Given the description of an element on the screen output the (x, y) to click on. 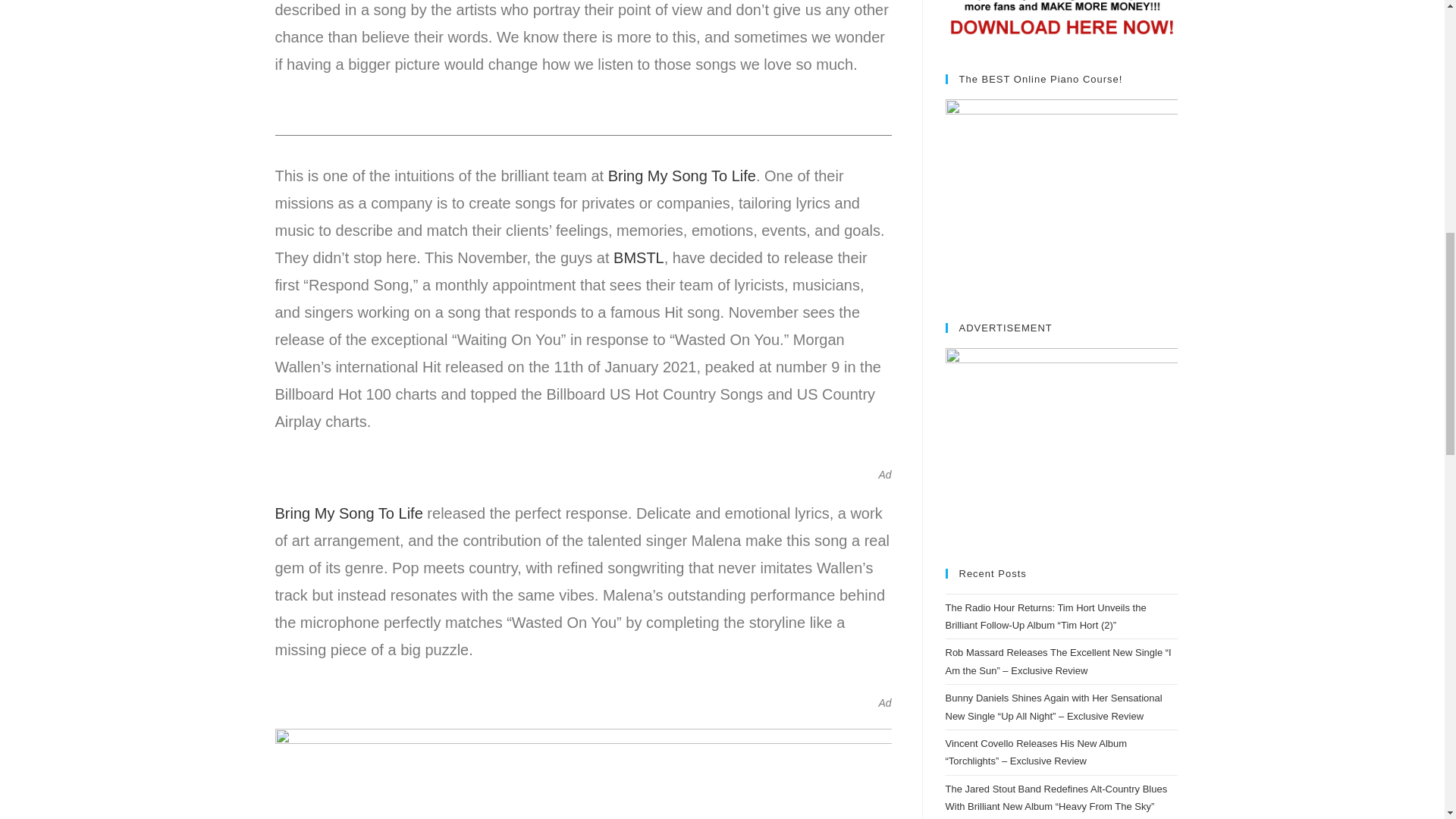
BMSTL (637, 257)
Bring My Song To Life (681, 175)
Bring My Song To Life (348, 513)
